Given the description of an element on the screen output the (x, y) to click on. 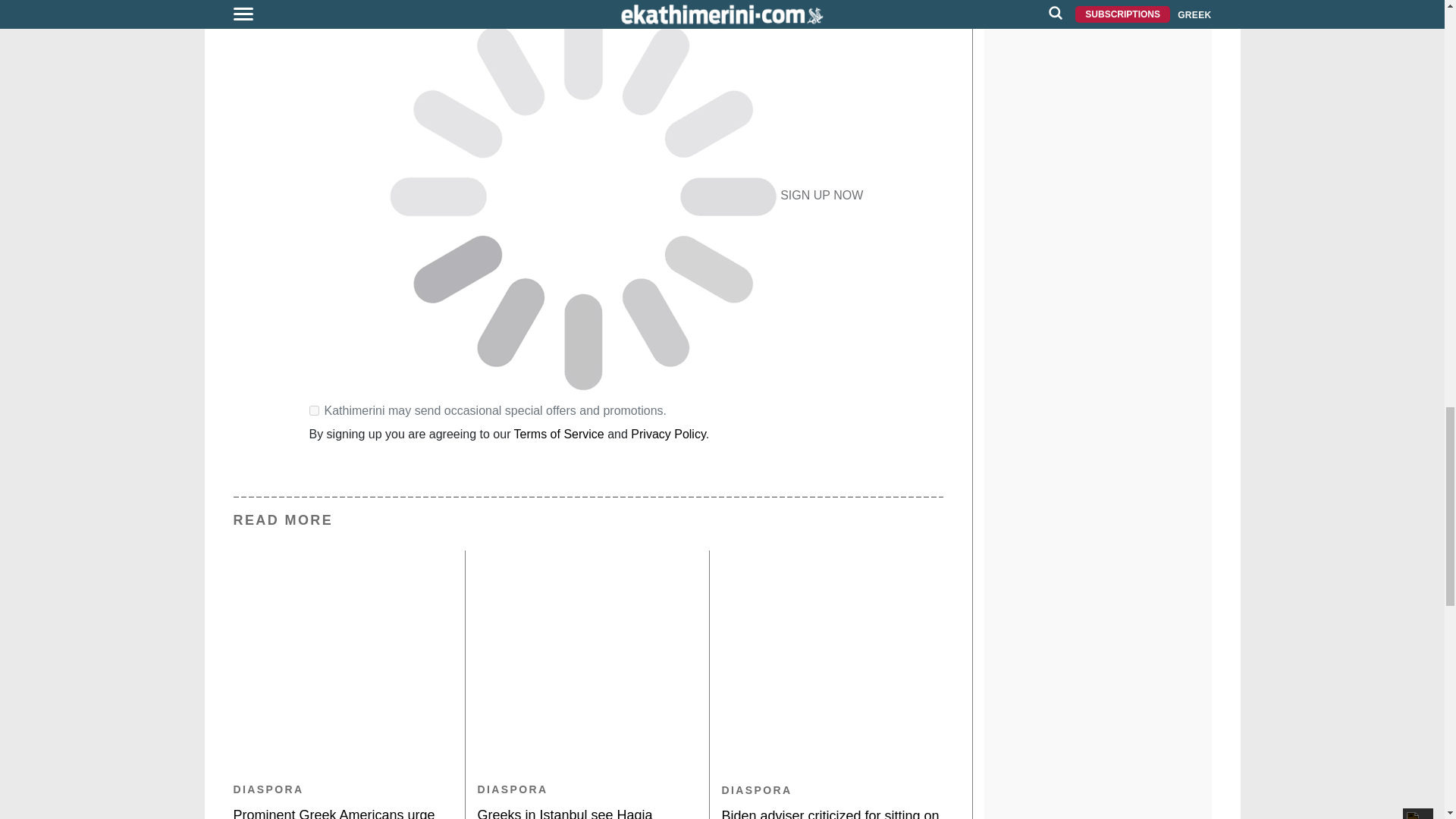
on (313, 410)
